Given the description of an element on the screen output the (x, y) to click on. 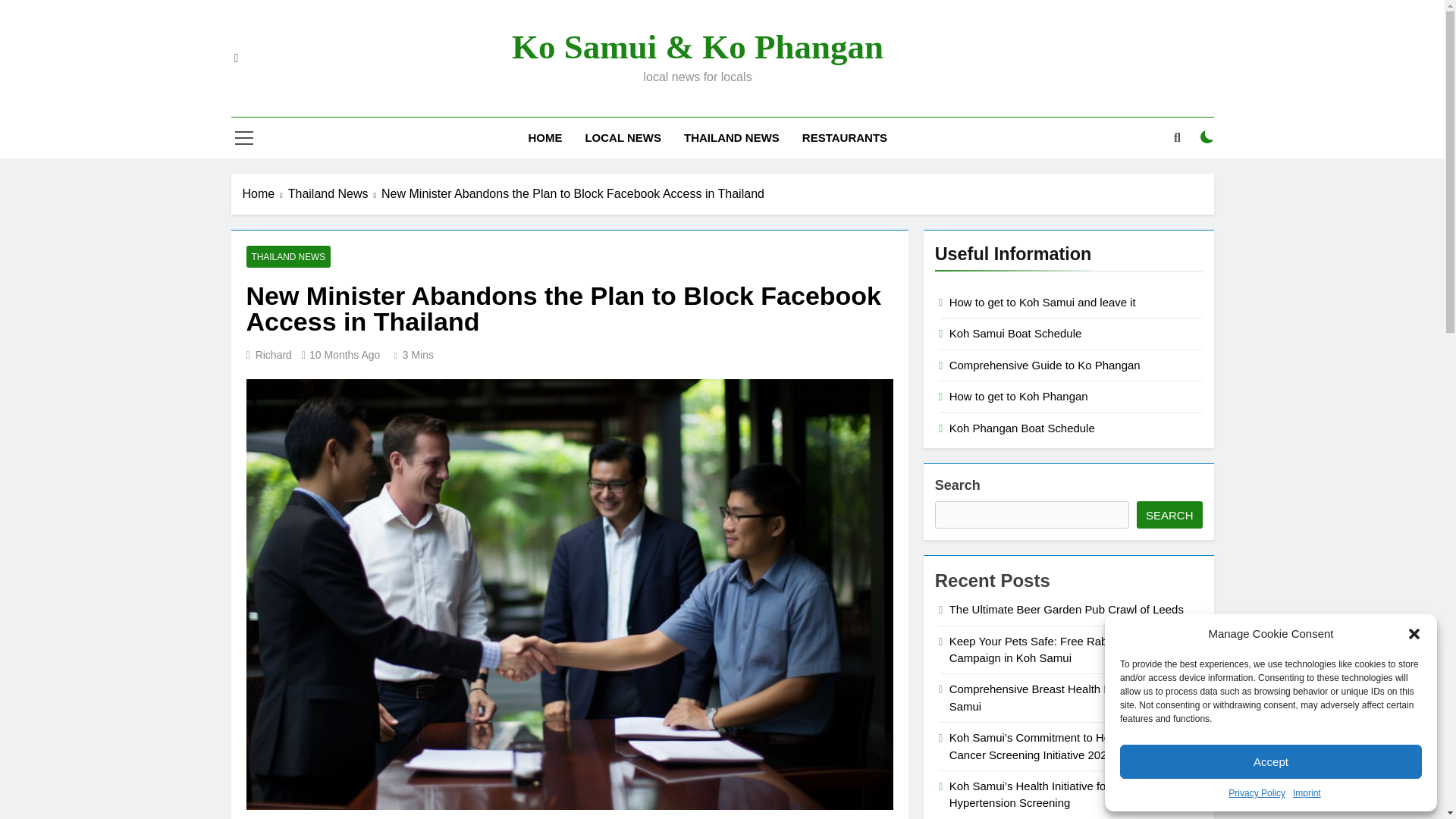
Thailand News (334, 194)
Privacy Policy (1256, 793)
RESTAURANTS (844, 137)
Accept (1270, 761)
Imprint (1306, 793)
on (1206, 137)
HOME (544, 137)
Richard (274, 354)
THAILAND NEWS (288, 256)
10 Months Ago (344, 354)
LOCAL NEWS (622, 137)
Home (265, 194)
THAILAND NEWS (731, 137)
